Given the description of an element on the screen output the (x, y) to click on. 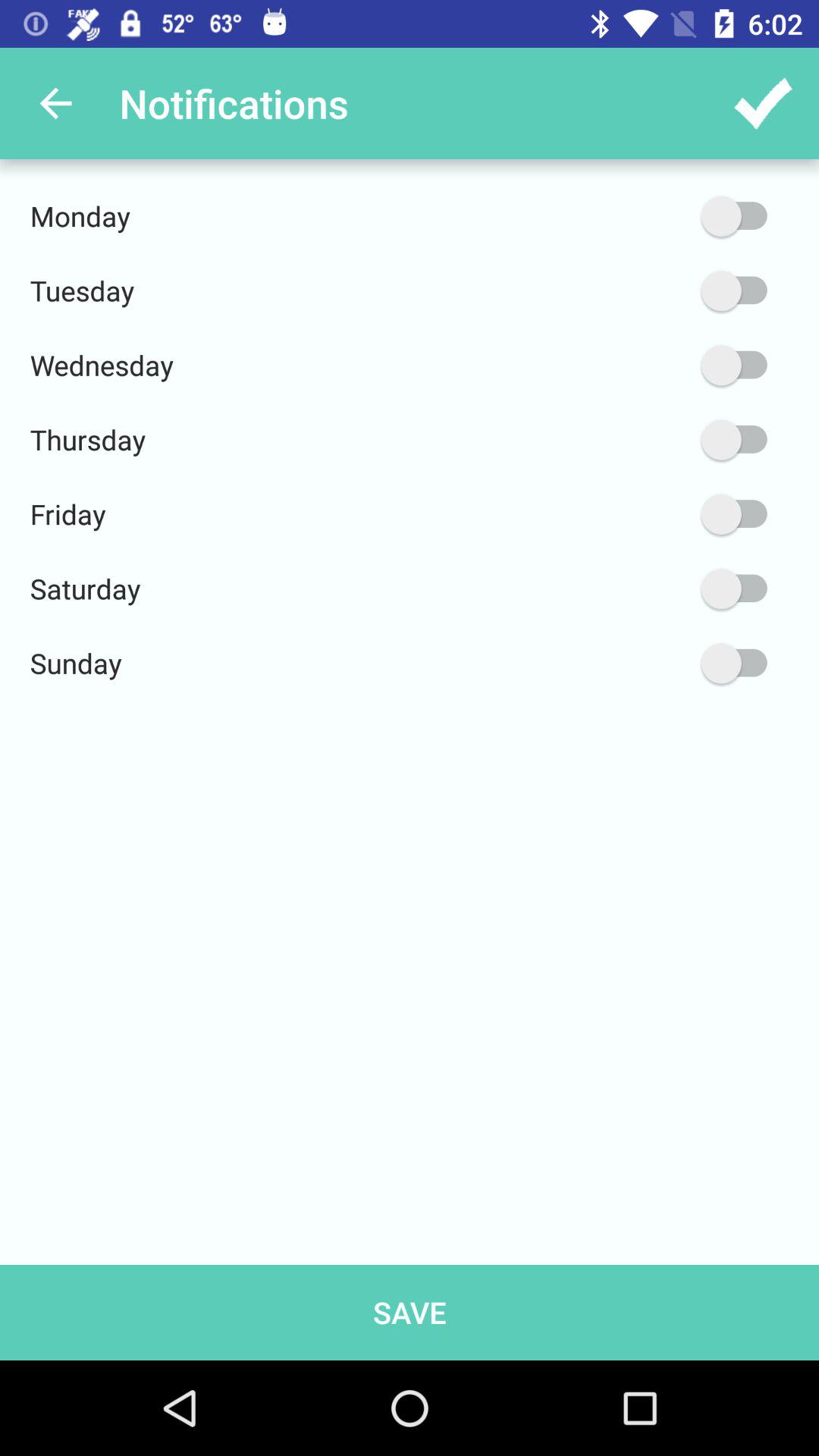
click the item to the right of wednesday item (661, 365)
